Given the description of an element on the screen output the (x, y) to click on. 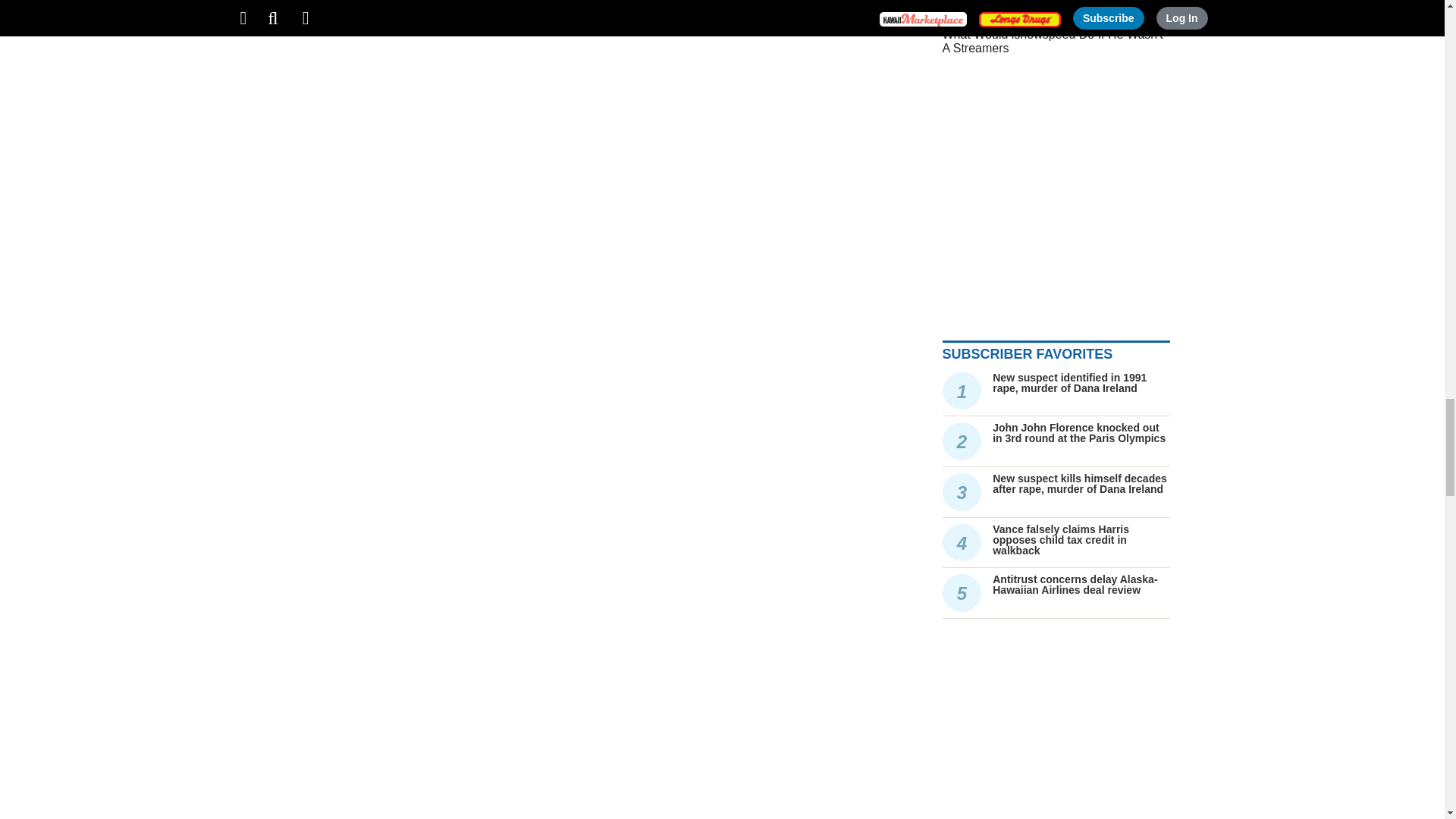
New suspect identified in 1991 rape, murder of Dana Ireland (1069, 382)
